Given the description of an element on the screen output the (x, y) to click on. 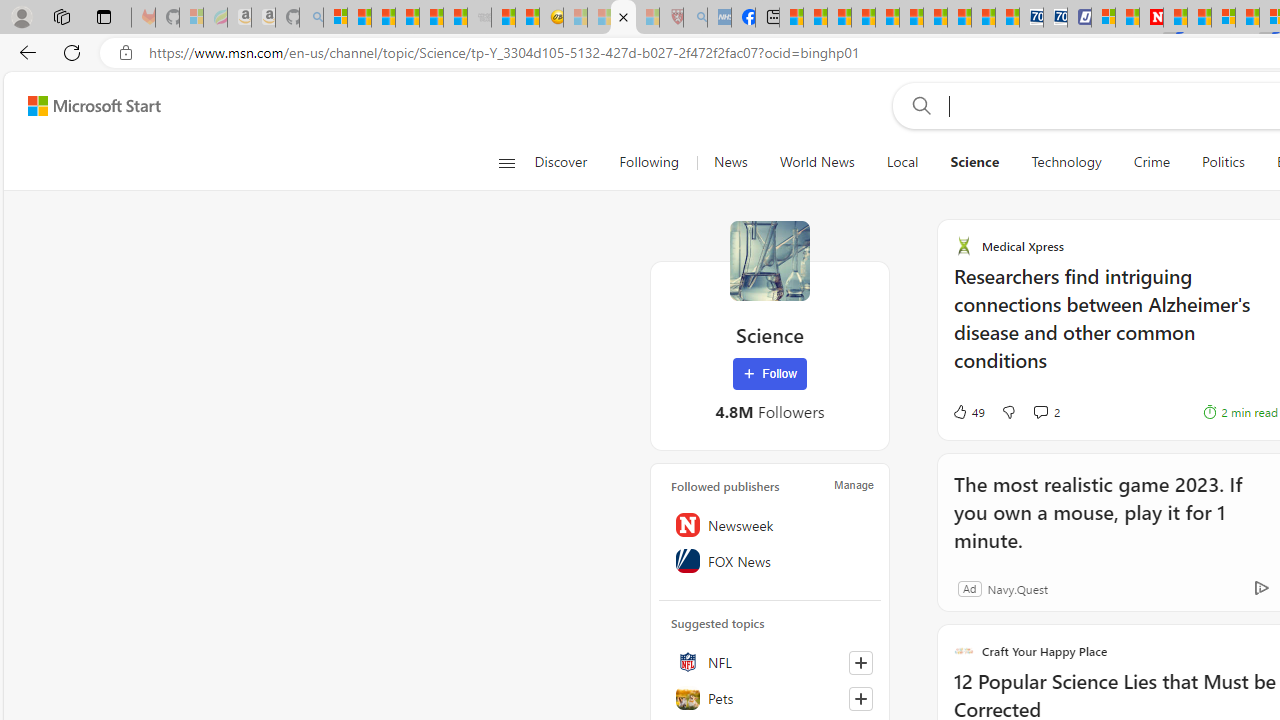
12 Popular Science Lies that Must be Corrected - Sleeping (647, 17)
World - MSN (839, 17)
